Given the description of an element on the screen output the (x, y) to click on. 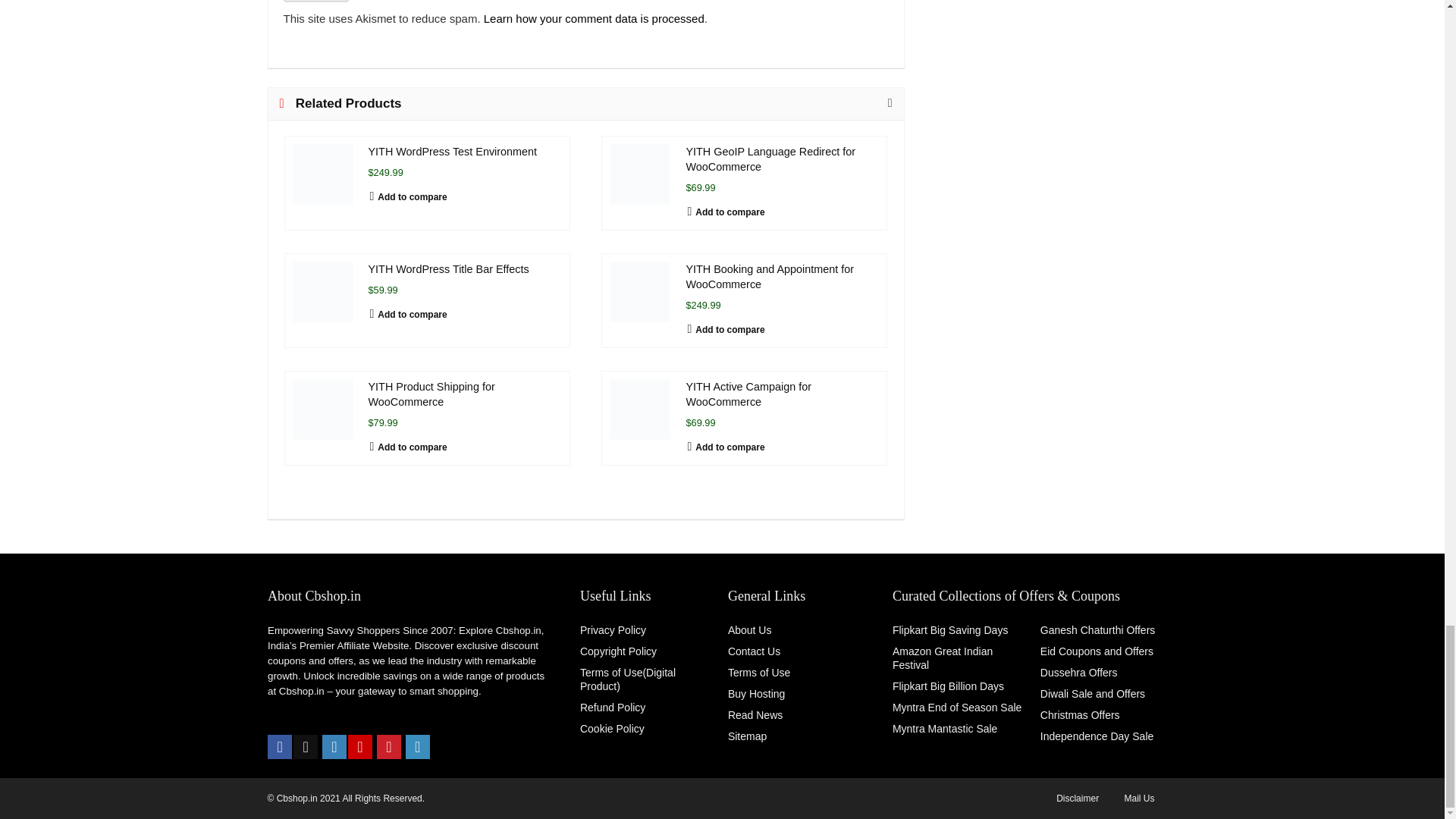
Youtube (359, 746)
Linkedin (417, 746)
Pinterest (389, 746)
Facebook (279, 746)
twitter (305, 746)
Instagramm (333, 746)
Submit (316, 0)
